Given the description of an element on the screen output the (x, y) to click on. 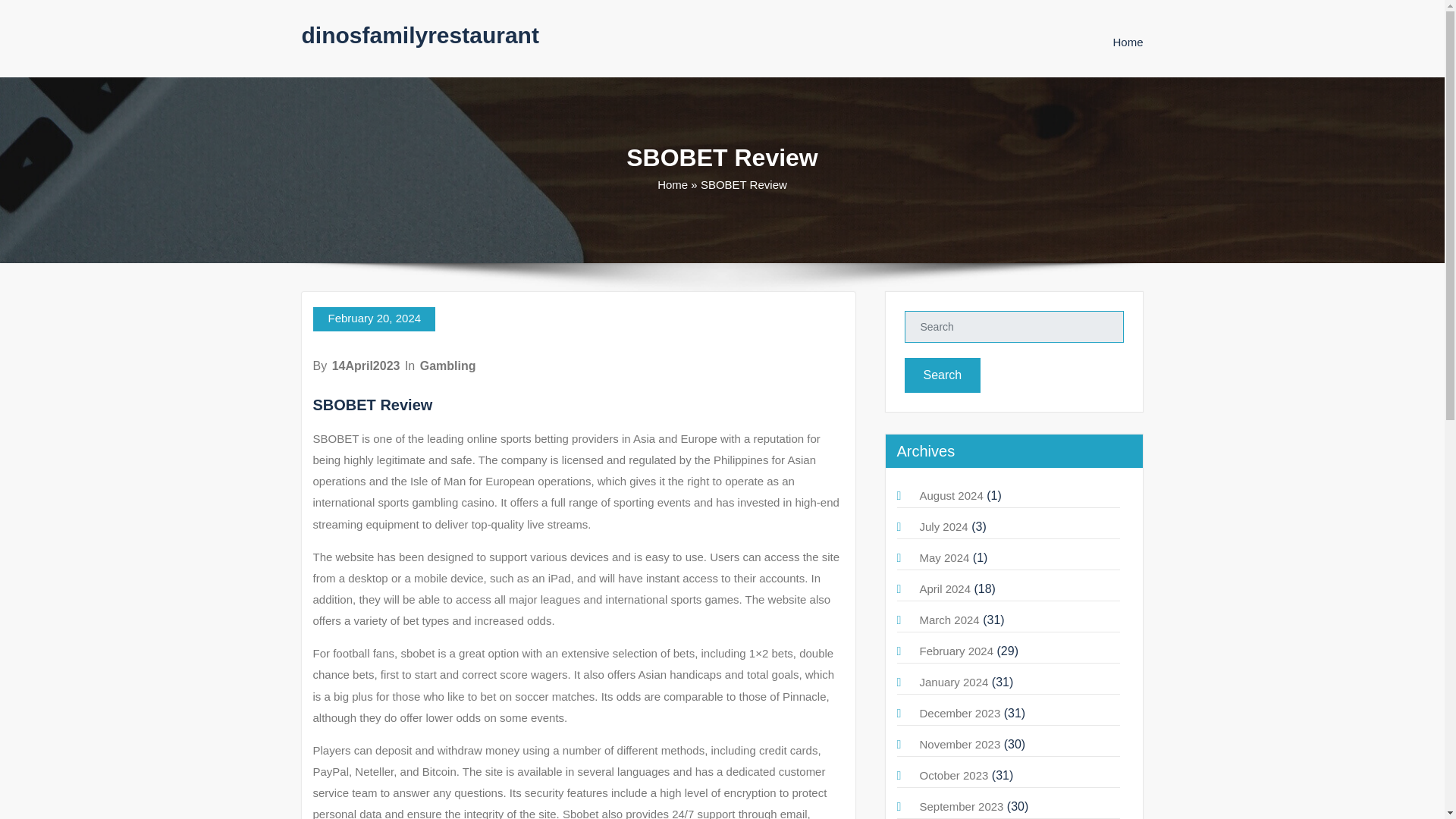
July 2024 (943, 526)
14April2023 (365, 365)
May 2024 (943, 557)
November 2023 (959, 744)
Home (1127, 41)
April 2024 (944, 588)
February 2024 (955, 650)
Home (1127, 41)
September 2023 (960, 806)
March 2024 (948, 619)
